Given the description of an element on the screen output the (x, y) to click on. 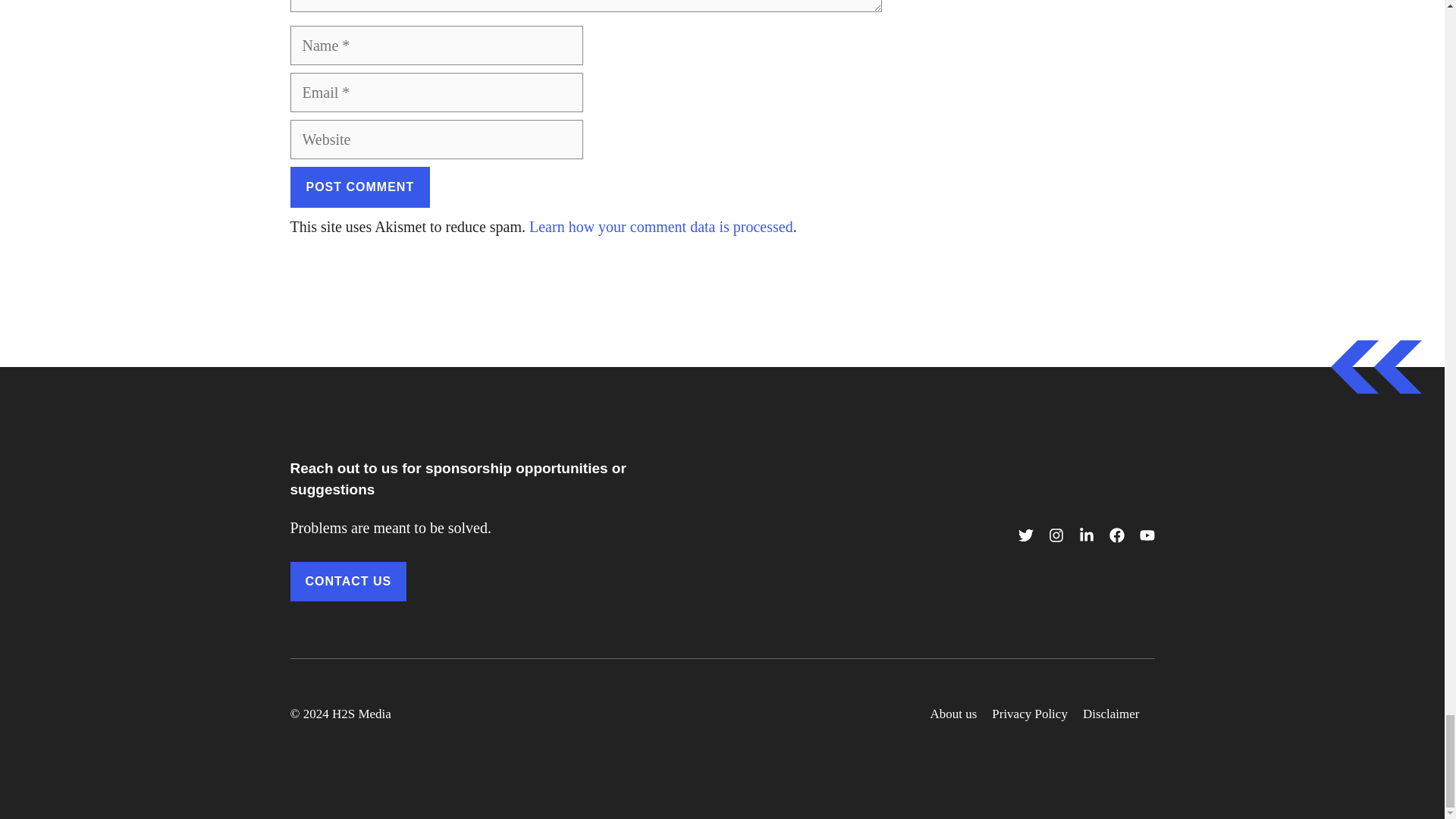
Post Comment (359, 187)
